Given the description of an element on the screen output the (x, y) to click on. 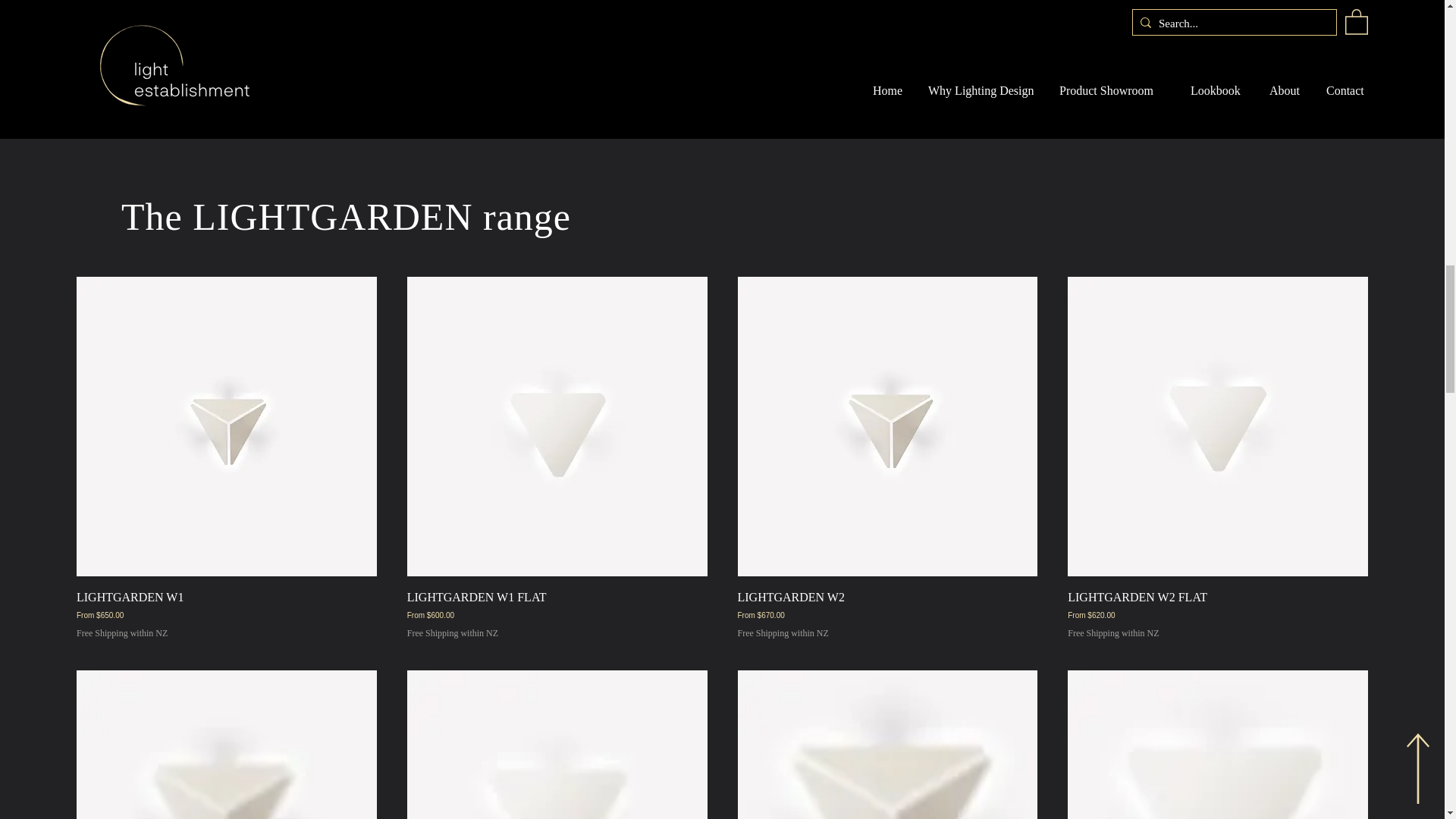
Free Shipping within NZ (122, 633)
Free Shipping within NZ (1112, 633)
Free Shipping within NZ (782, 633)
Free Shipping within NZ (452, 633)
